Given the description of an element on the screen output the (x, y) to click on. 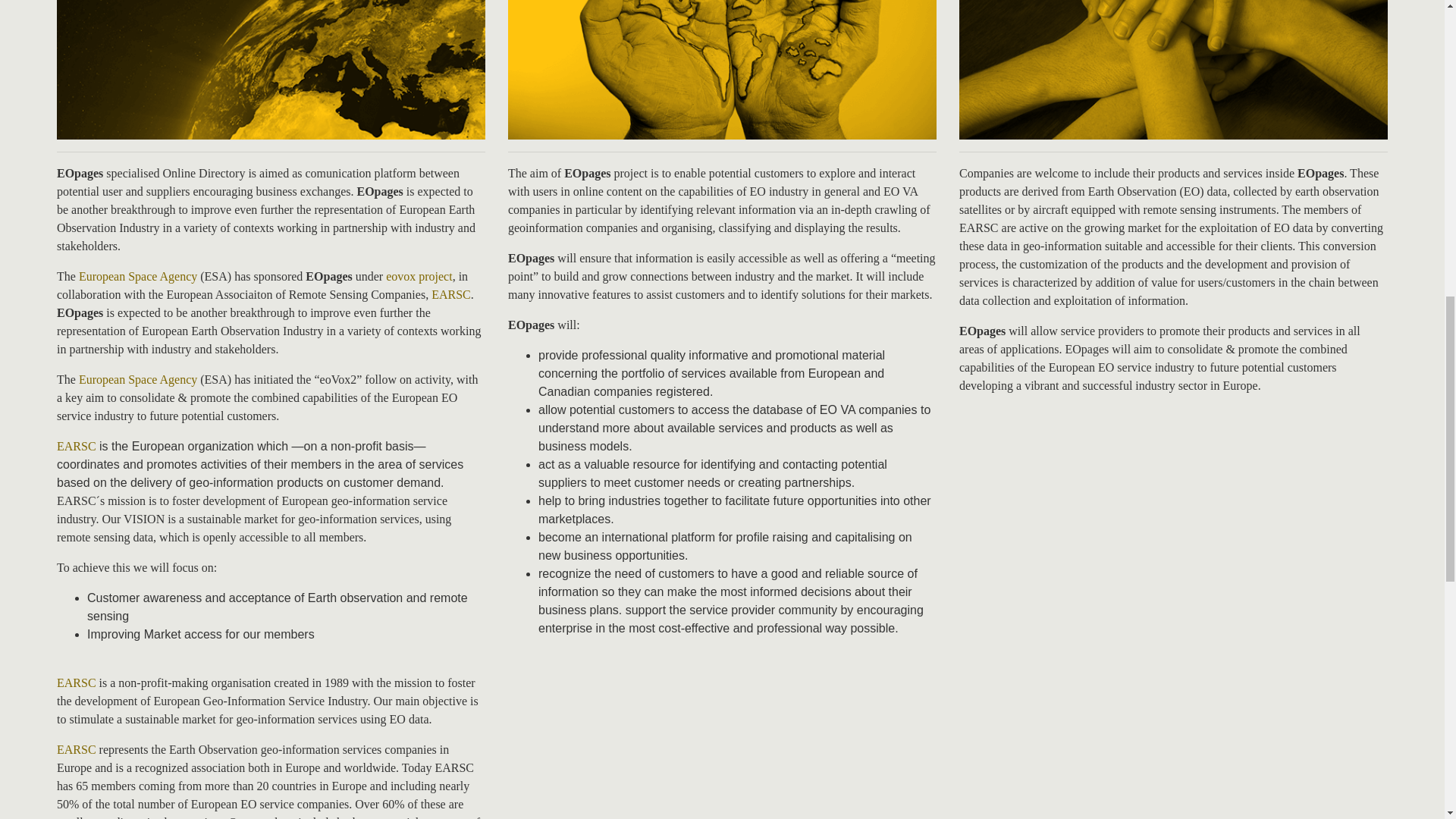
What is inside EOpages? (1173, 70)
EARSC (76, 445)
EARSC (76, 748)
EARSC (76, 748)
European Space Agency (137, 379)
European Space Agency (137, 379)
European Space Agency (137, 276)
EARSC (76, 682)
European Space Agency (137, 276)
Who we are? (270, 70)
EARSC (76, 445)
EARSC (450, 294)
eovox project (418, 276)
EARSC (76, 682)
Eovox project (418, 276)
